Given the description of an element on the screen output the (x, y) to click on. 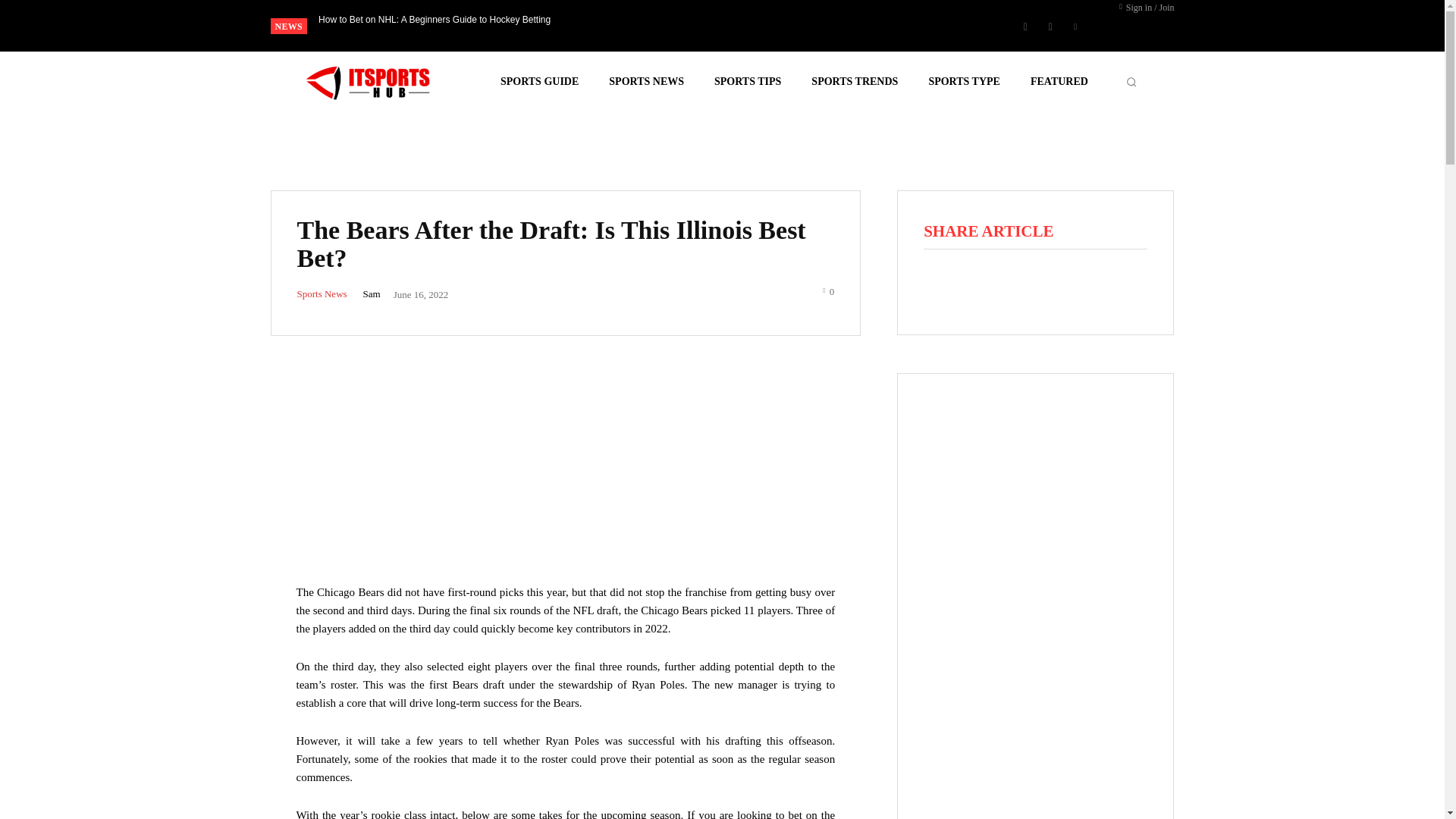
Advertisement (565, 470)
How to Bet on NHL: A Beginners Guide to Hockey Betting (434, 18)
SPORTS NEWS (646, 81)
The Economics Of Horse Races: Owners, Trainers, And Bettors (430, 18)
Twitter (1075, 25)
SPORTS TRENDS (854, 81)
Instagram (1050, 25)
Facebook (1024, 25)
How to Bet on NHL: A Beginners Guide to Hockey Betting (434, 18)
SPORTS GUIDE (539, 81)
